Given the description of an element on the screen output the (x, y) to click on. 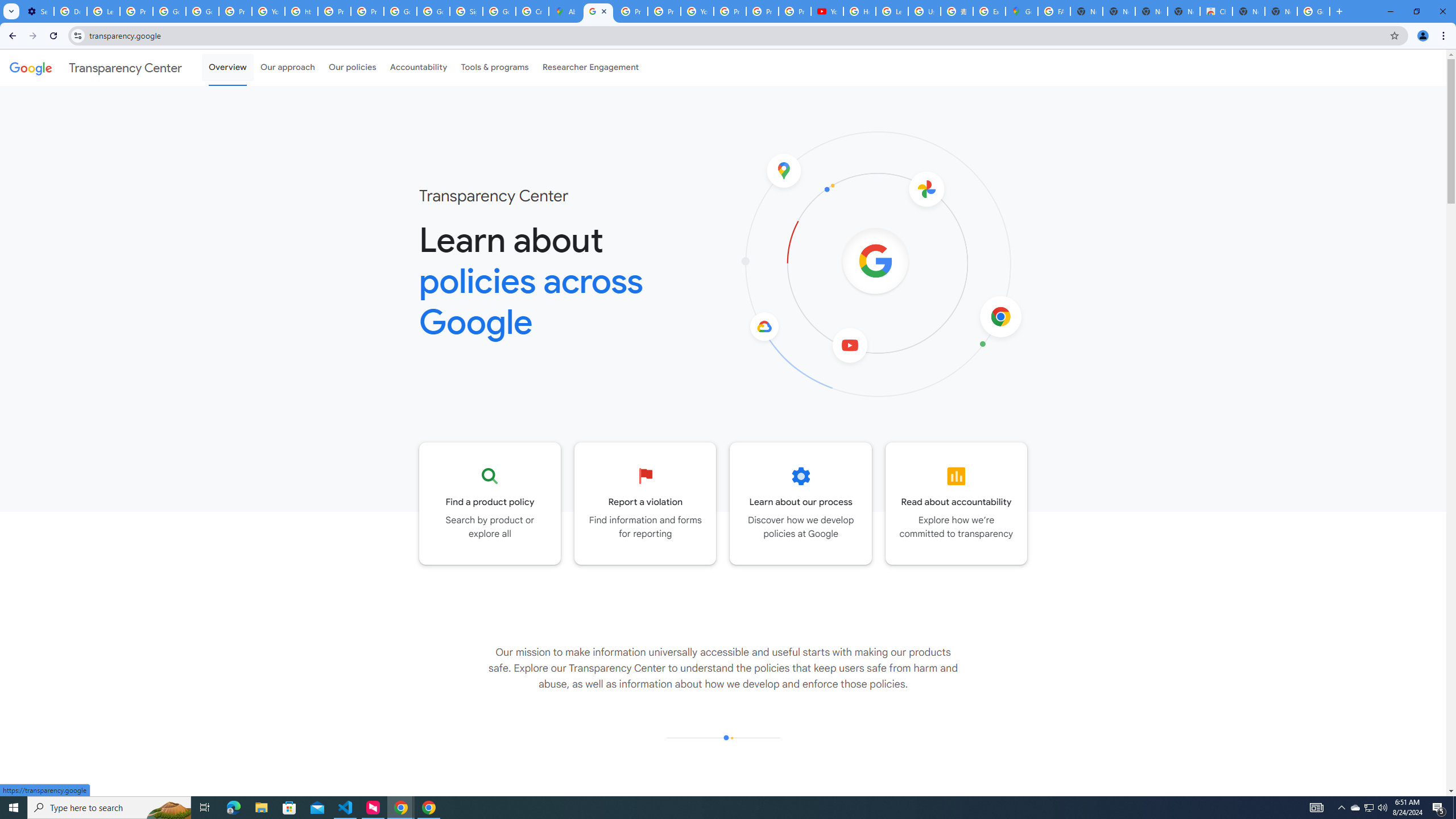
Tools & programs (494, 67)
